Given the description of an element on the screen output the (x, y) to click on. 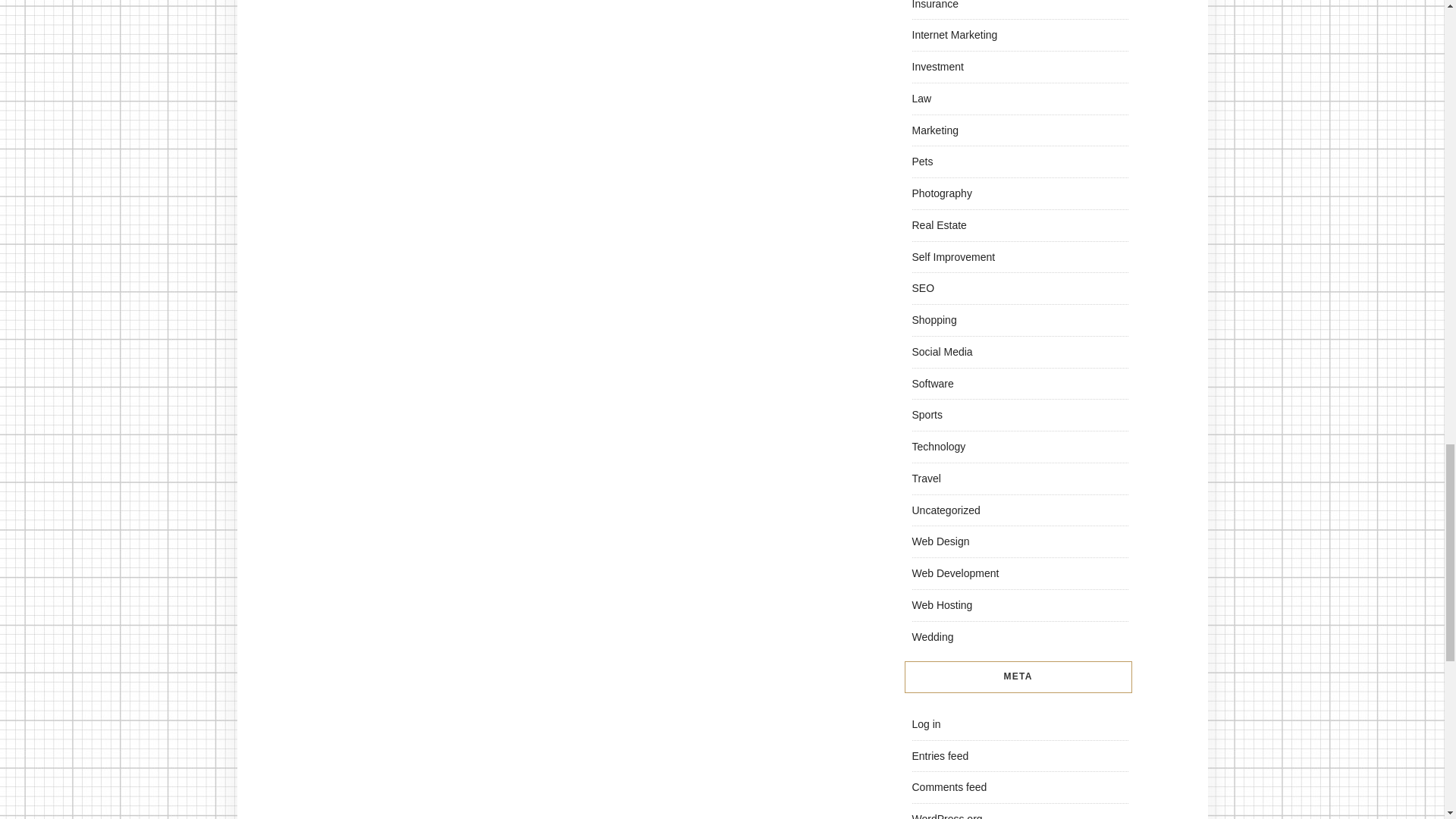
Internet Marketing (954, 34)
Insurance (934, 4)
